Given the description of an element on the screen output the (x, y) to click on. 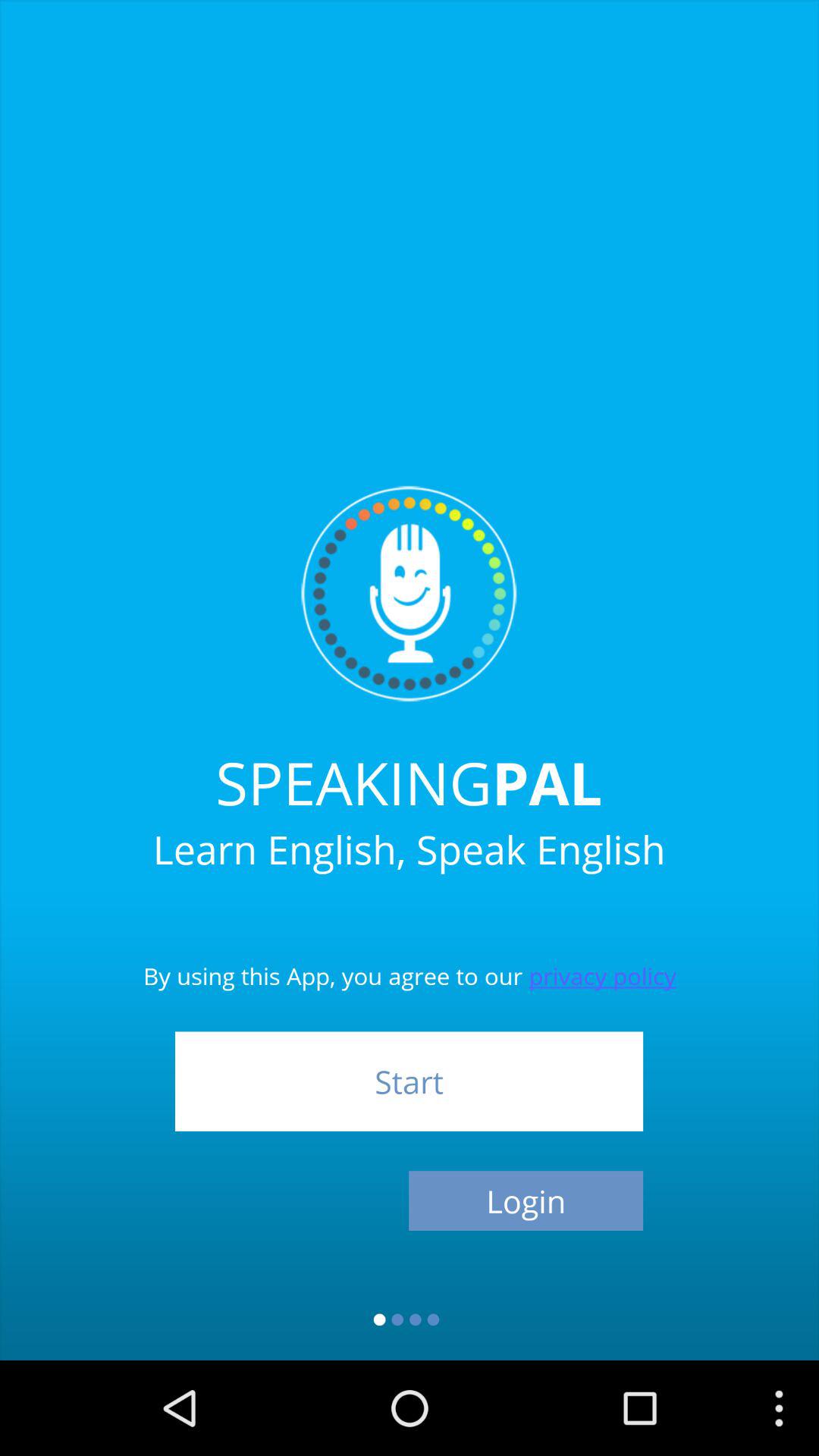
scroll until by using this item (409, 951)
